Given the description of an element on the screen output the (x, y) to click on. 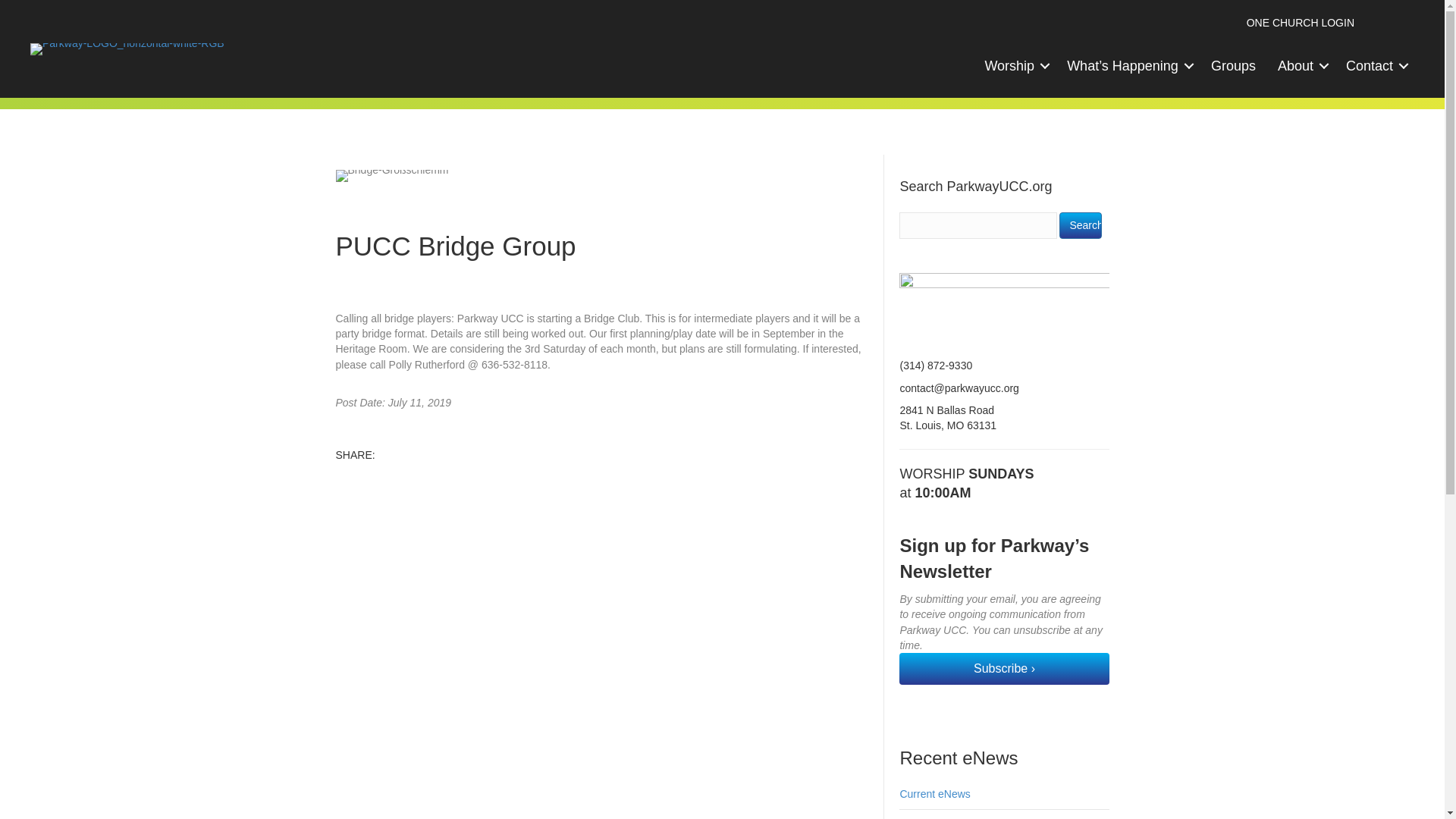
Current eNews (934, 793)
About (1300, 65)
Contact (1374, 65)
ONE CHURCH LOGIN (1300, 22)
Current eNews (934, 793)
Groups (1232, 65)
Search (1079, 225)
Worship (1014, 65)
Search (1079, 225)
